Given the description of an element on the screen output the (x, y) to click on. 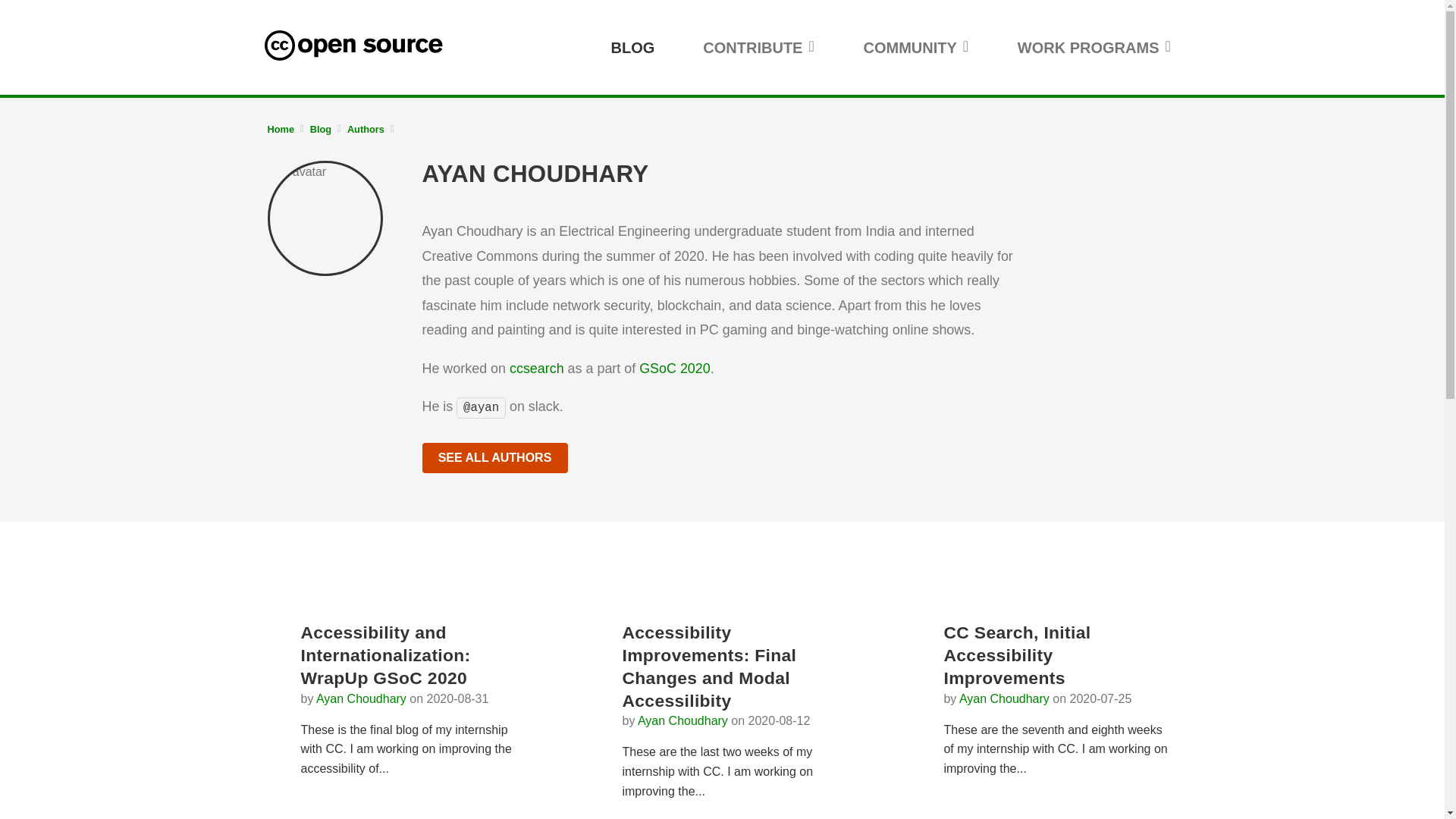
CONTRIBUTE (759, 47)
BLOG (632, 47)
Blog (320, 129)
COMMUNITY (914, 47)
Ayan Choudhary (360, 698)
Accessibility and Internationalization: WrapUp GSoC 2020 (384, 654)
SEE ALL AUTHORS (494, 458)
WORK PROGRAMS (1094, 47)
GSoC 2020 (674, 368)
ccsearch (536, 368)
